Given the description of an element on the screen output the (x, y) to click on. 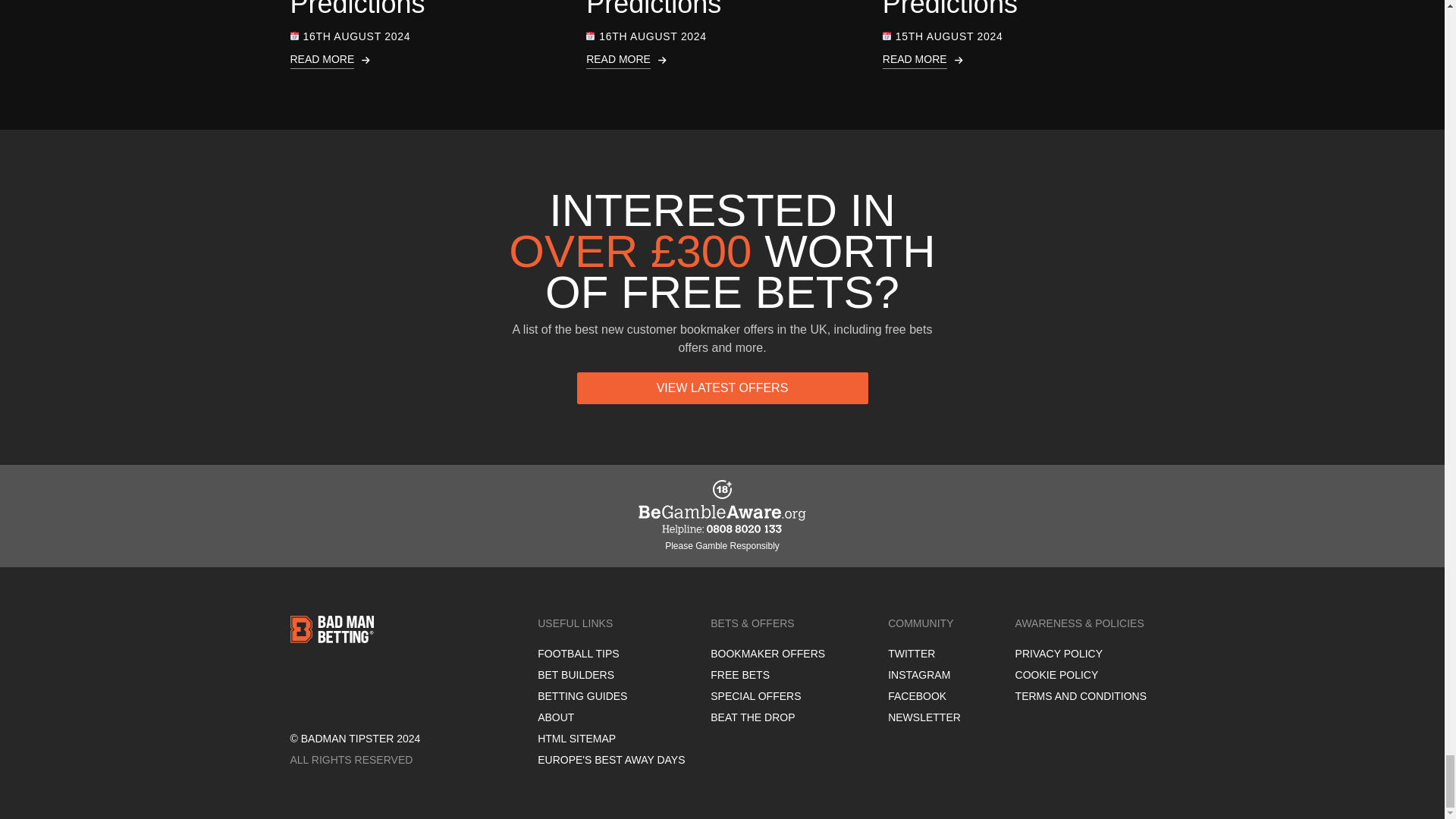
READ MORE (722, 59)
READ MORE (425, 59)
